Given the description of an element on the screen output the (x, y) to click on. 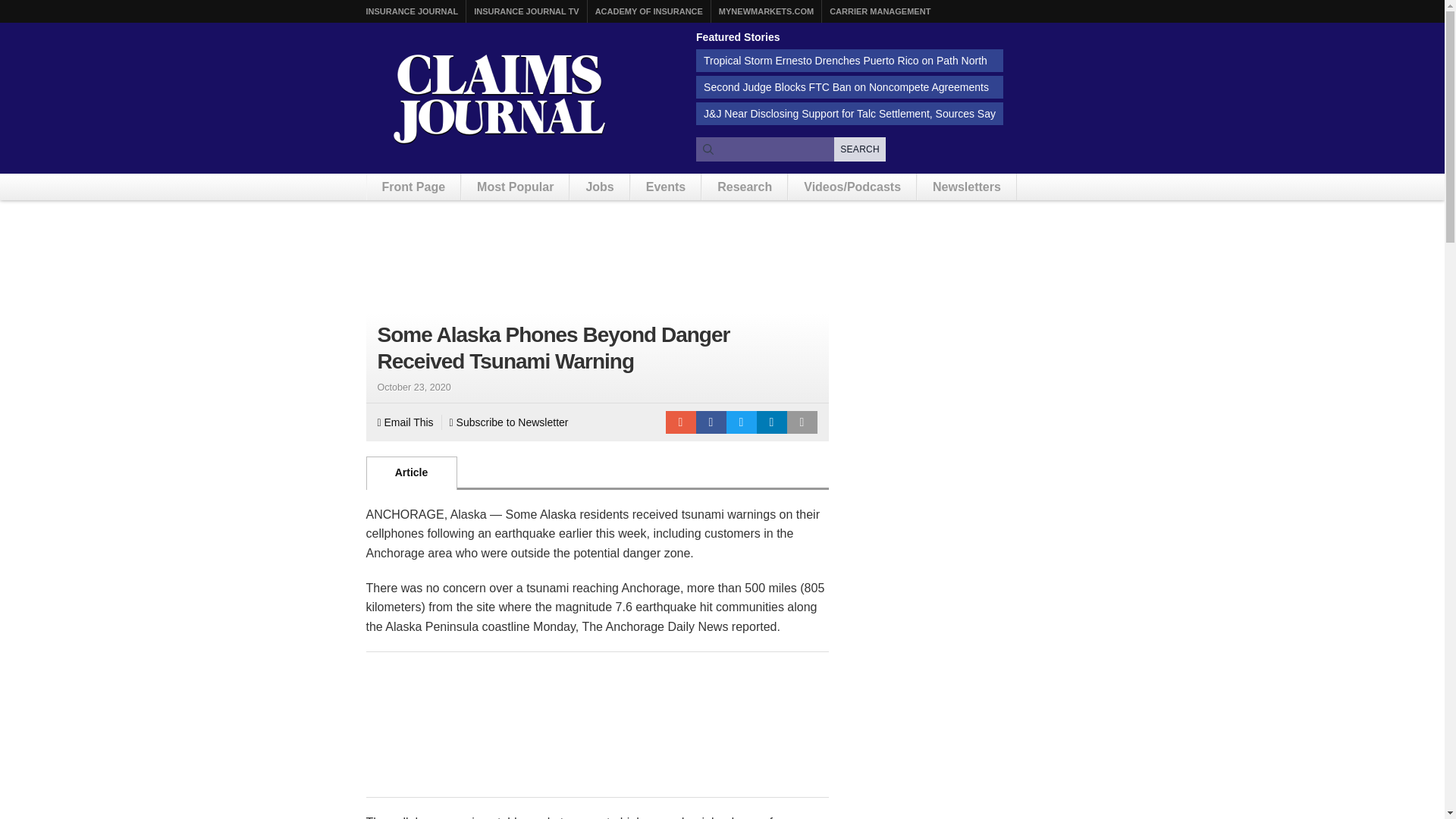
Search latest claims industry news, trends and reports (790, 149)
SEARCH (859, 149)
Research (744, 186)
Newsletters (966, 186)
Facebook (710, 422)
Email to a friend (680, 422)
Share on Twitter. (741, 422)
Tweet (741, 422)
INSURANCE JOURNAL TV (526, 11)
Print Article (801, 422)
